Given the description of an element on the screen output the (x, y) to click on. 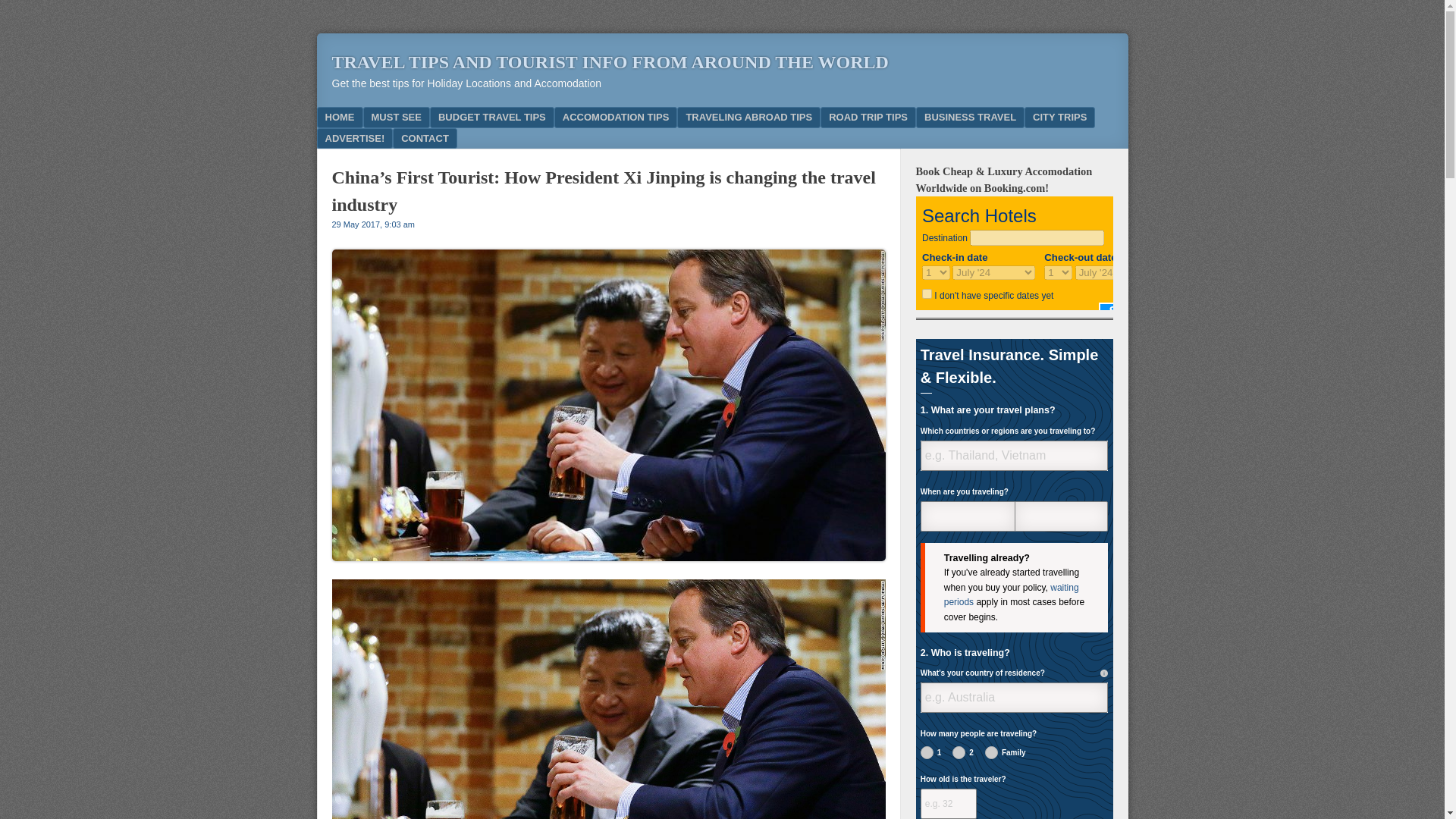
SKIP TO CONTENT (370, 117)
Best Cities In The World To visit (1059, 117)
Travel Tips And Tourist Info From Around The World (609, 62)
Best Business Travel Tips (970, 117)
Skip to content (370, 117)
TRAVELING ABROAD TIPS (749, 117)
Great Accomodations Exposed! (616, 117)
CONTACT (425, 137)
Advertise On Our Travel Site! (355, 137)
Travelling On A Shoe String (491, 117)
BUSINESS TRAVEL (970, 117)
ADVERTISE! (355, 137)
ACCOMODATION TIPS (616, 117)
29 May 2017, 9:03 am (372, 224)
ROAD TRIP TIPS (868, 117)
